Given the description of an element on the screen output the (x, y) to click on. 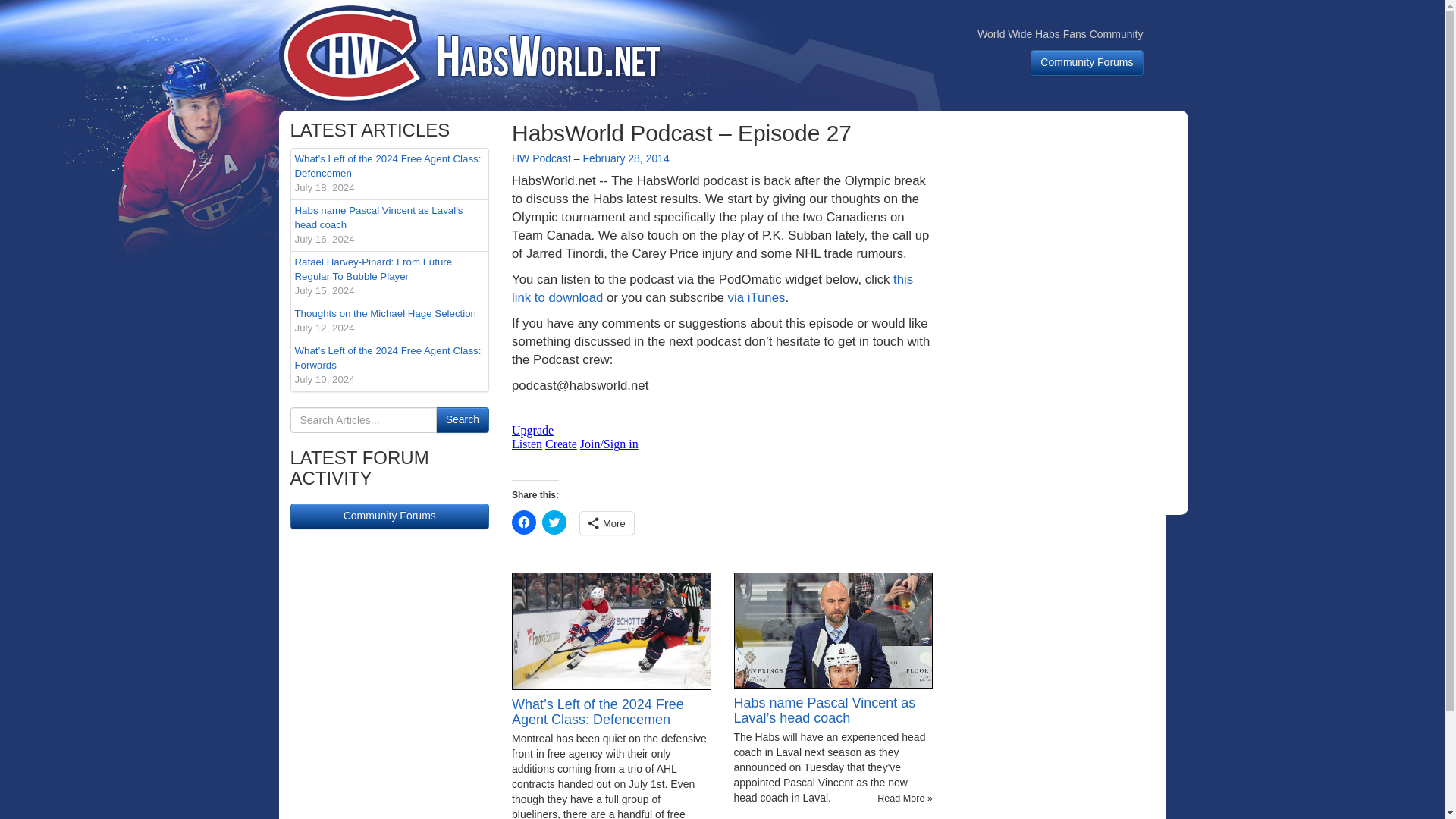
Community Forums (1086, 62)
Search (462, 420)
More (606, 522)
Advertisement (1068, 215)
this link to download (390, 321)
via iTunes (712, 287)
Advertisement (757, 297)
Click to share on Twitter (1068, 411)
Search (553, 522)
Community Forums (462, 420)
February 28, 2014 (389, 516)
HW Podcast (625, 158)
Click to share on Facebook (541, 158)
